Given the description of an element on the screen output the (x, y) to click on. 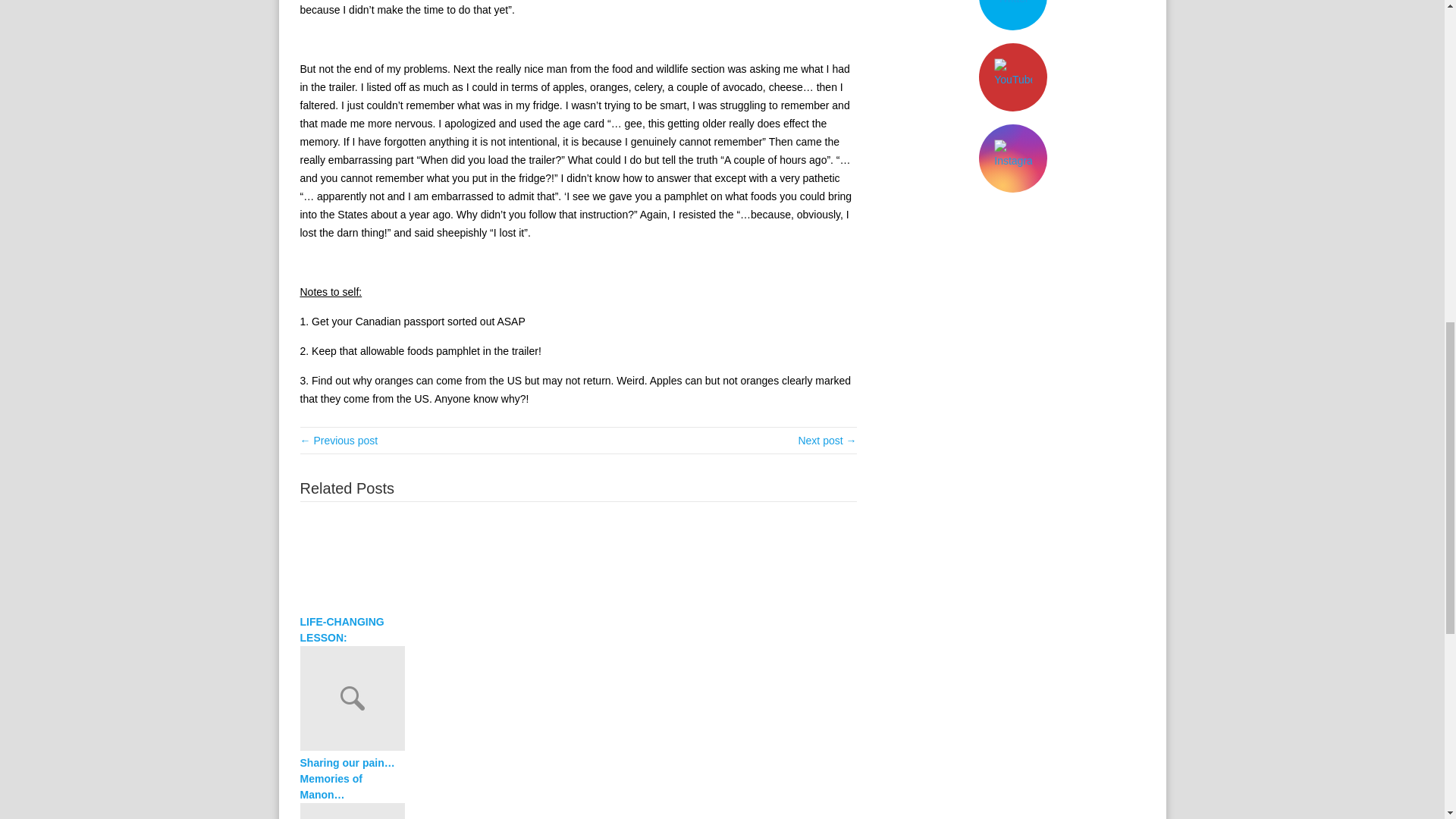
LIFE-CHANGING LESSON: (351, 630)
LIFE-CHANGING LESSON: (351, 630)
Wrap your mind around this! (338, 440)
53. You are in the right place... at the right time! (826, 440)
LIFE-CHANGING LESSON: (578, 561)
60. With apologies (578, 811)
